Given the description of an element on the screen output the (x, y) to click on. 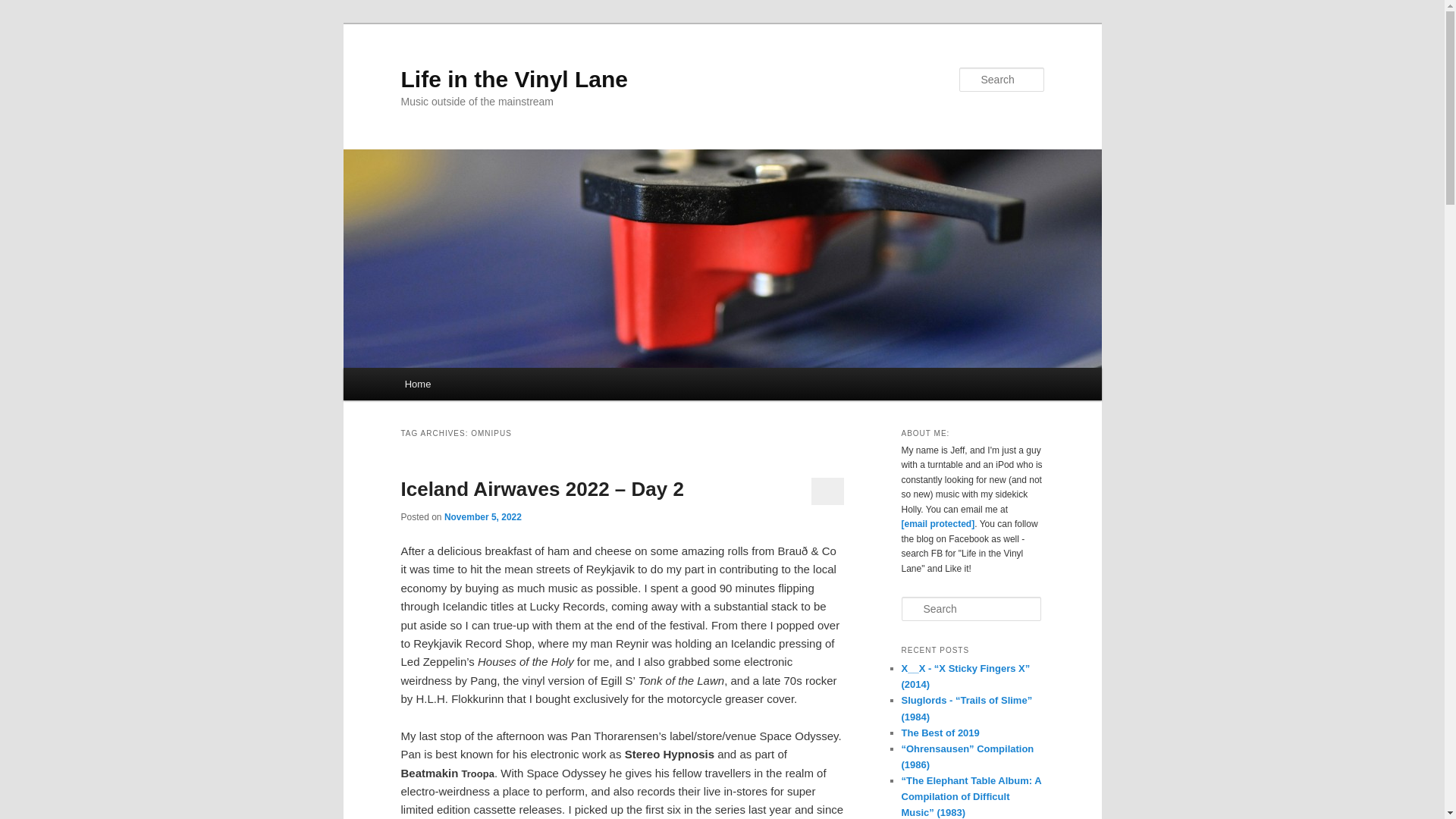
Skip to primary content (472, 386)
Skip to primary content (472, 386)
Home (417, 383)
November 5, 2022 (482, 516)
Life in the Vinyl Lane (513, 78)
Skip to secondary content (479, 386)
4:09 AM (482, 516)
Search (21, 11)
Search (24, 8)
Life in the Vinyl Lane (513, 78)
